Given the description of an element on the screen output the (x, y) to click on. 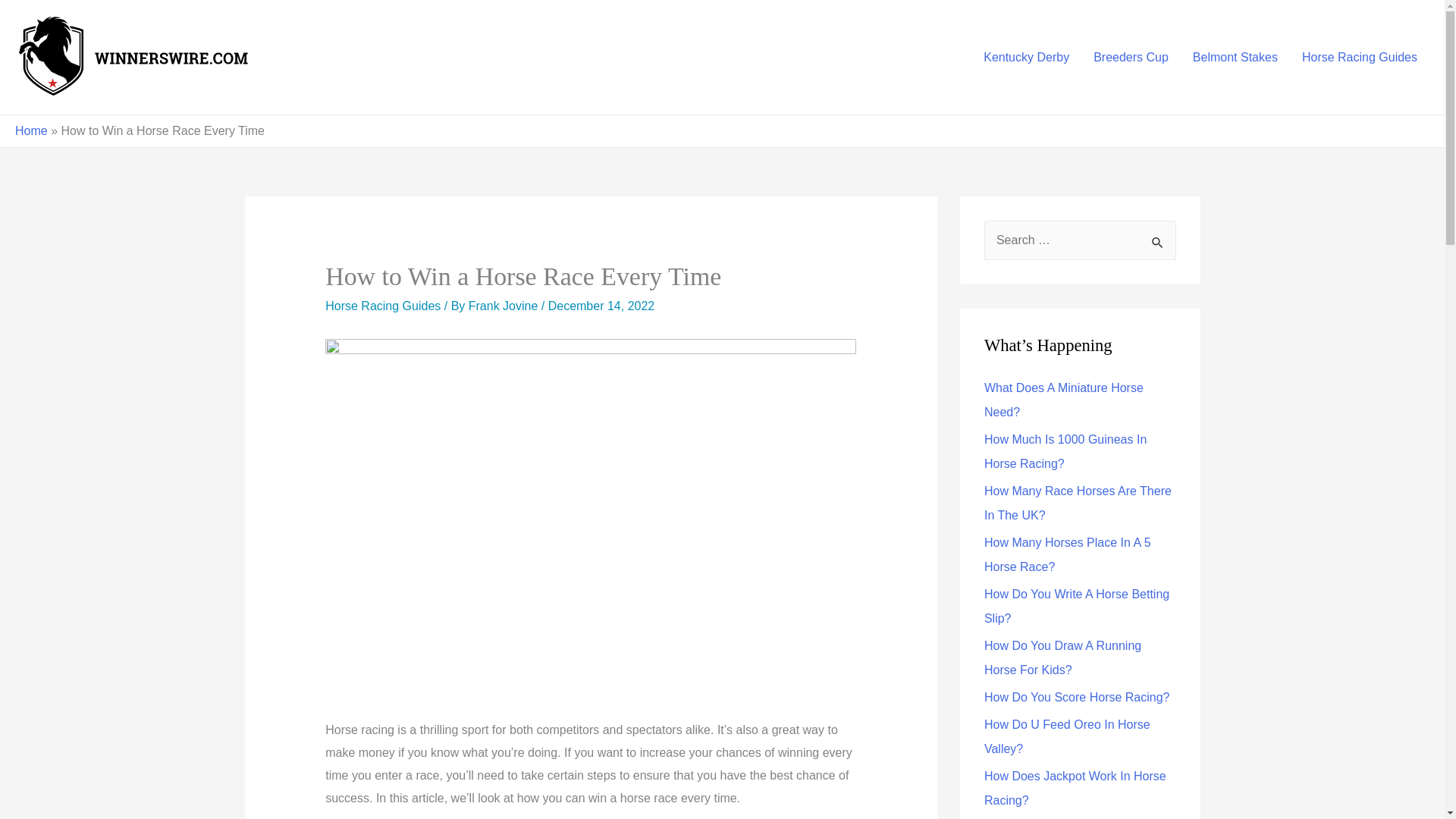
Kentucky Derby (1026, 56)
Home (31, 130)
Horse Racing Guides (1359, 56)
Horse Racing Guides (382, 305)
Search (1158, 241)
Breeders Cup (1130, 56)
View all posts by Frank Jovine (504, 305)
Belmont Stakes (1235, 56)
Search (1158, 241)
Frank Jovine (504, 305)
